Given the description of an element on the screen output the (x, y) to click on. 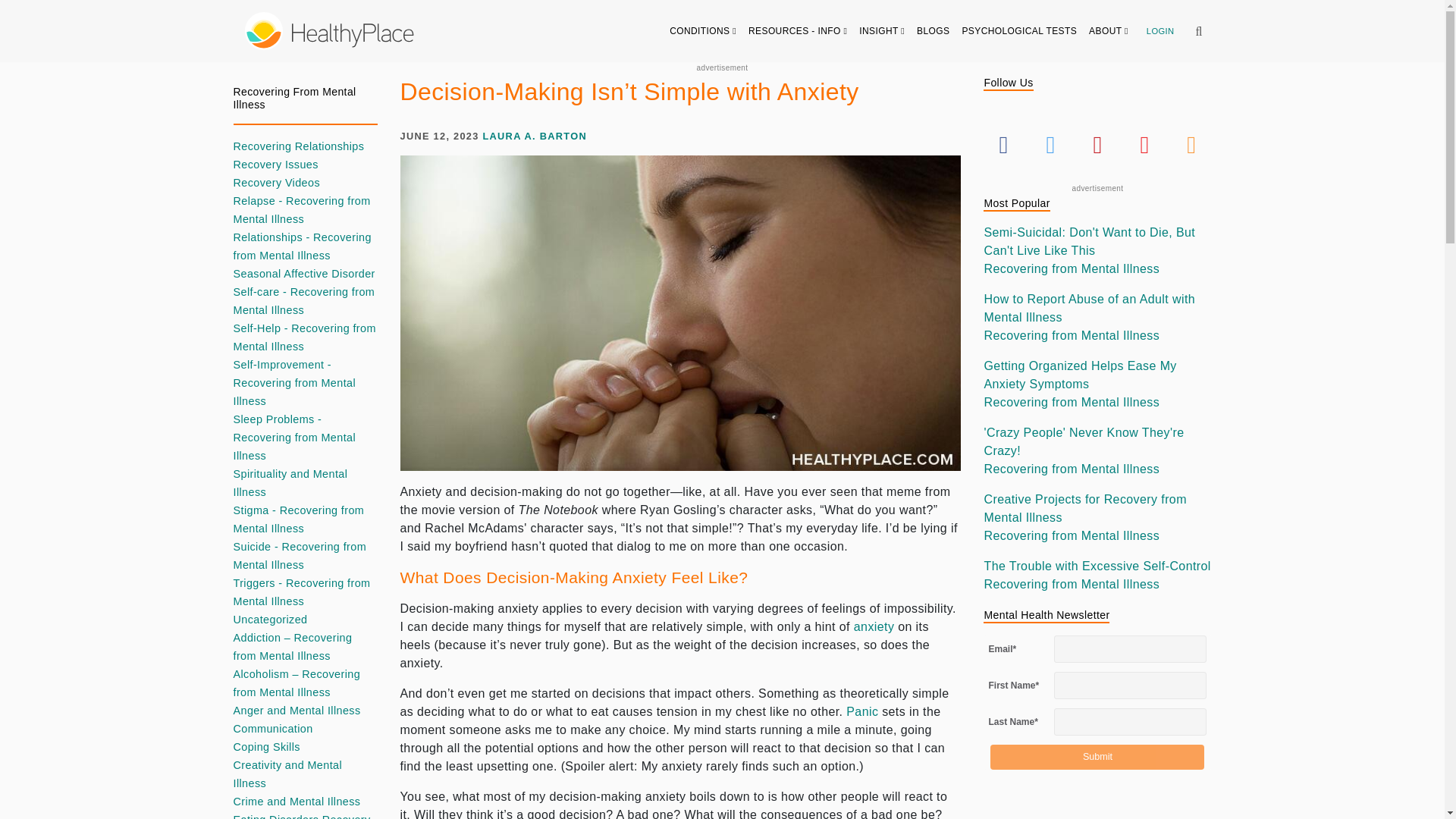
RESOURCES - INFO (797, 31)
CONDITIONS (702, 31)
Submit (1097, 756)
INSIGHT (882, 31)
What Is Anxiety, Really? Anxiety Definition (874, 626)
What Is a Panic Attack? (861, 711)
